Given the description of an element on the screen output the (x, y) to click on. 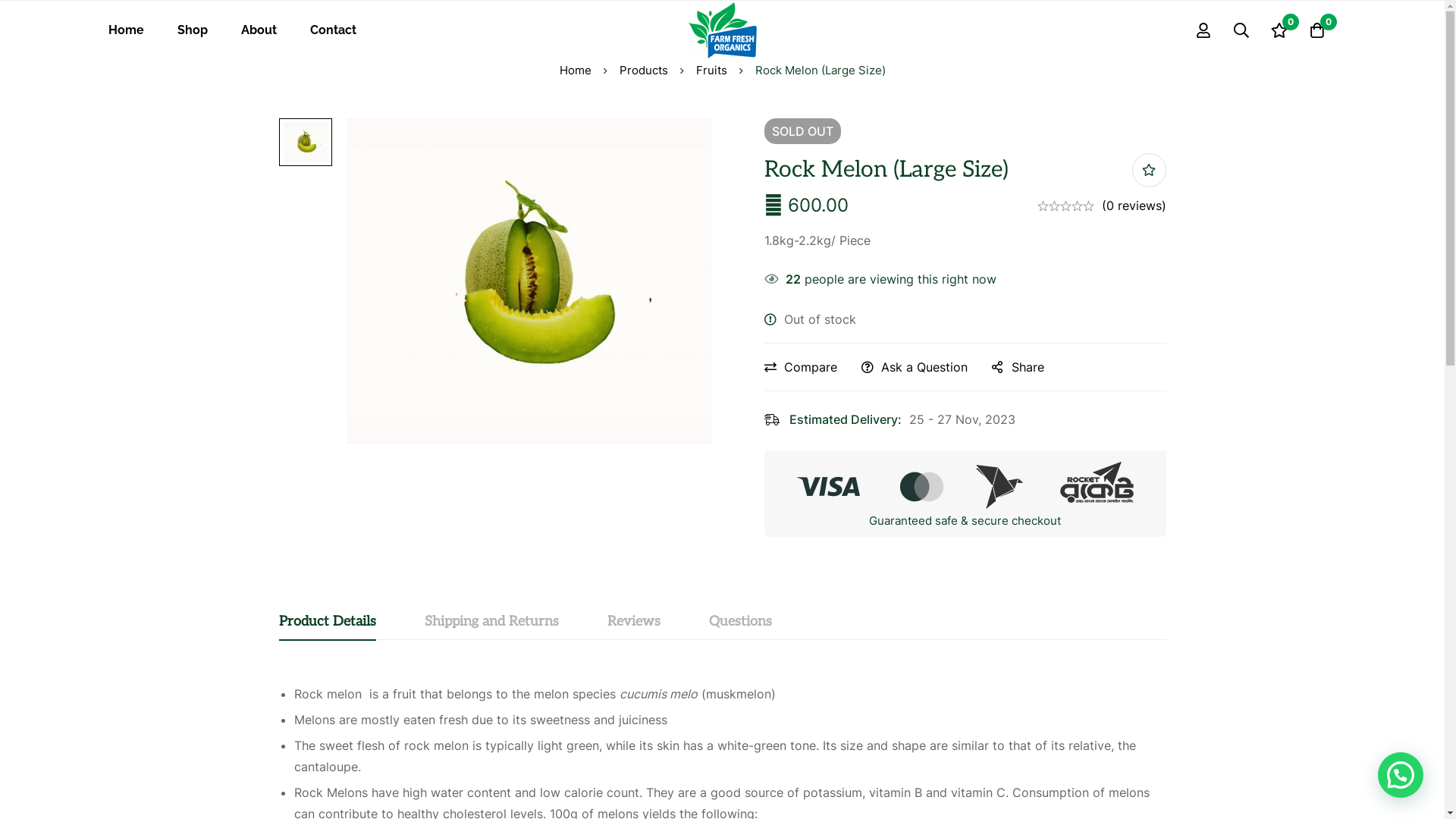
1 Element type: text (721, 525)
Apply coupon Element type: text (721, 462)
Home Element type: text (575, 70)
0 Element type: text (1317, 29)
Contact Element type: text (332, 29)
Add To Wishlist Element type: text (1148, 170)
Ask a Question Element type: text (914, 366)
(0 reviews) Element type: text (1133, 205)
Fruits Element type: text (711, 70)
Home Element type: text (125, 29)
0 Element type: text (1279, 29)
About Element type: text (258, 29)
Share Element type: text (1017, 366)
Submit Now Element type: text (824, 613)
Compare Element type: text (800, 366)
Shop Element type: text (192, 29)
Products Element type: text (642, 70)
